Given the description of an element on the screen output the (x, y) to click on. 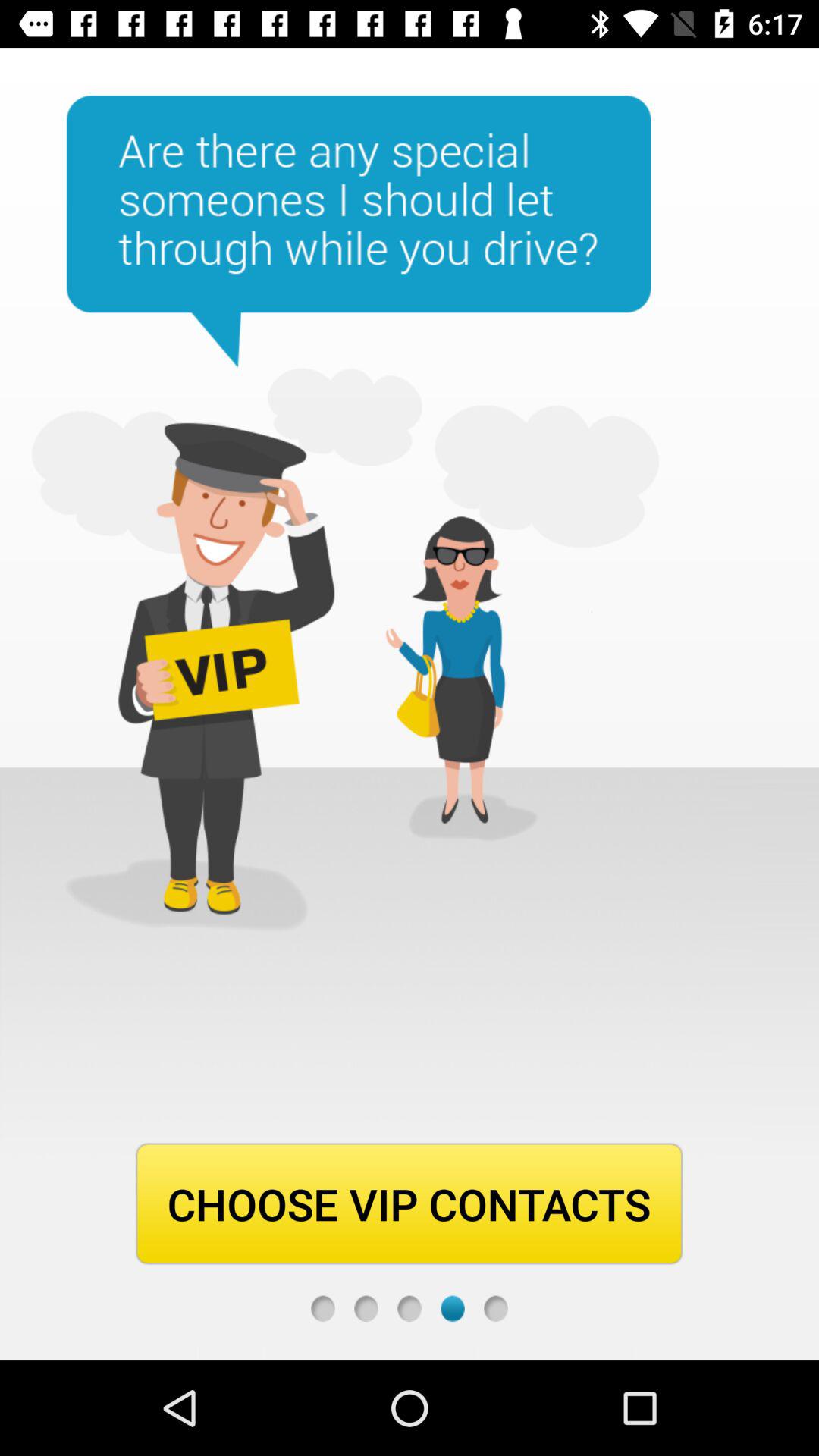
first step (322, 1308)
